Given the description of an element on the screen output the (x, y) to click on. 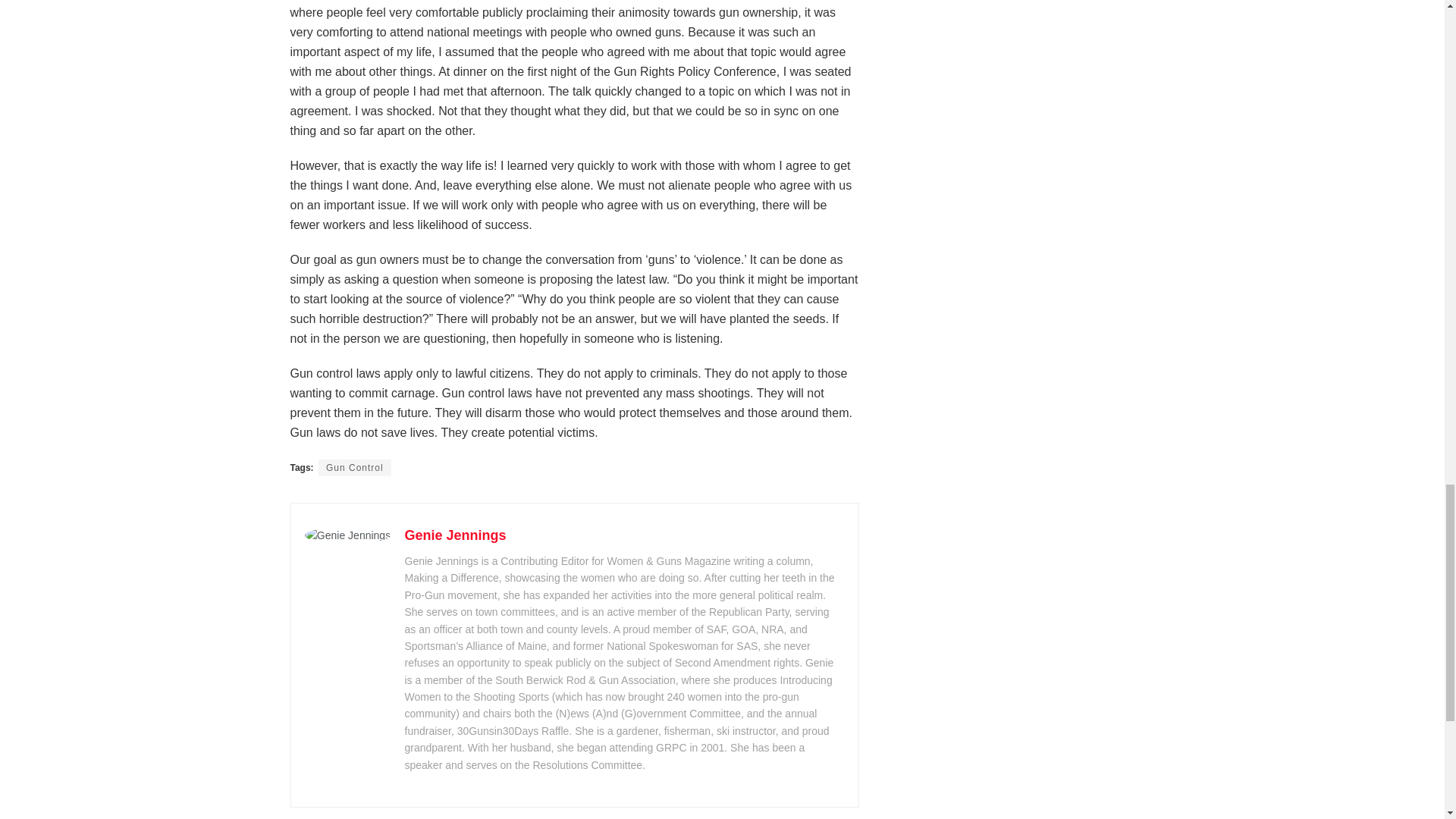
Gun Control (354, 467)
Genie Jennings (455, 534)
